Given the description of an element on the screen output the (x, y) to click on. 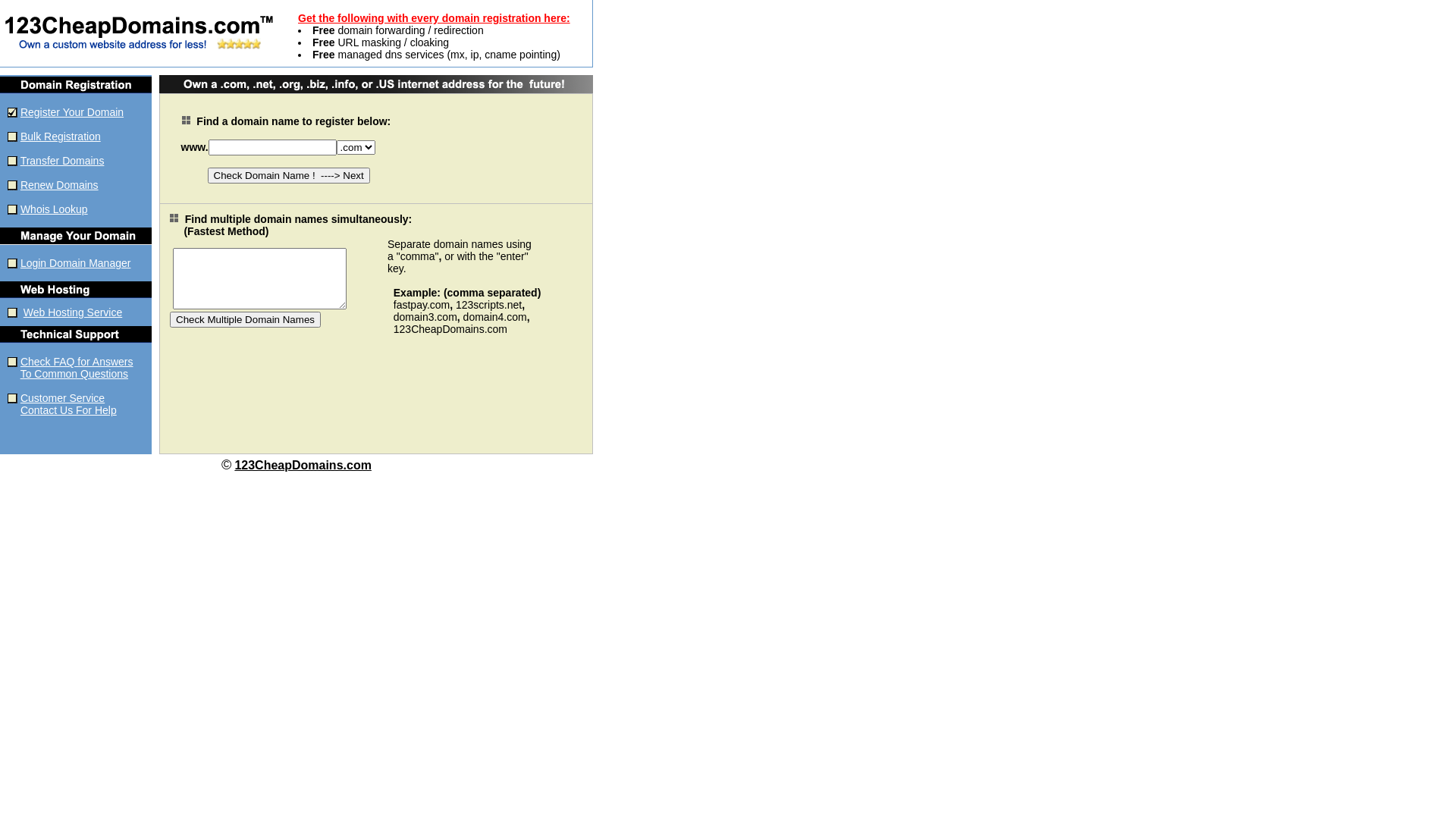
Contact Us For Help Element type: text (68, 410)
Check Domain Name !  ----> Next Element type: text (288, 175)
Renew Domains Element type: text (59, 184)
Transfer Domains Element type: text (62, 160)
Web Hosting Service Element type: text (72, 312)
Check FAQ for Answers Element type: text (76, 361)
Register Your Domain Element type: text (71, 112)
Whois Lookup Element type: text (53, 209)
Check Multiple Domain Names Element type: text (244, 318)
Customer Service Element type: text (62, 398)
Bulk Registration Element type: text (60, 136)
Login Domain Manager Element type: text (75, 263)
To Common Questions Element type: text (74, 373)
